Given the description of an element on the screen output the (x, y) to click on. 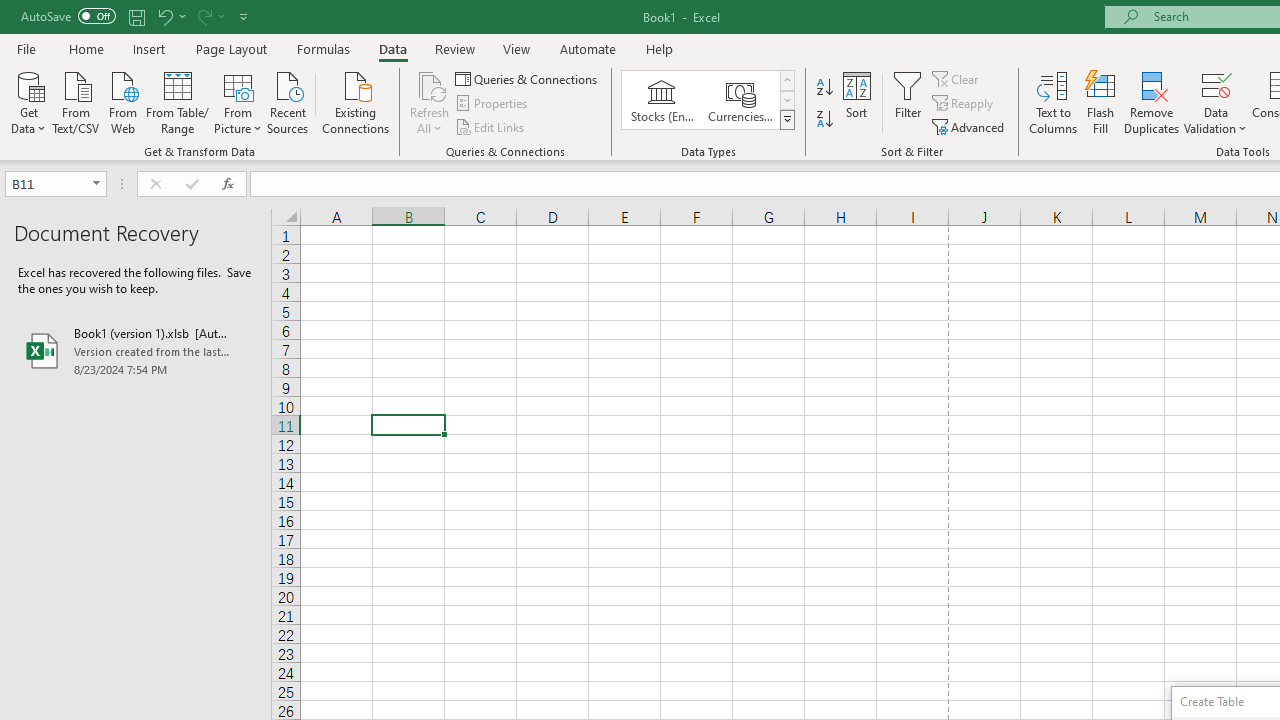
Sort Z to A (824, 119)
Help (660, 48)
Recent Sources (287, 101)
Queries & Connections (527, 78)
Refresh All (429, 102)
Customize Quick Access Toolbar (244, 15)
Save (136, 15)
Existing Connections (355, 101)
More Options (1215, 121)
Edit Links (491, 126)
From Picture (238, 101)
